Given the description of an element on the screen output the (x, y) to click on. 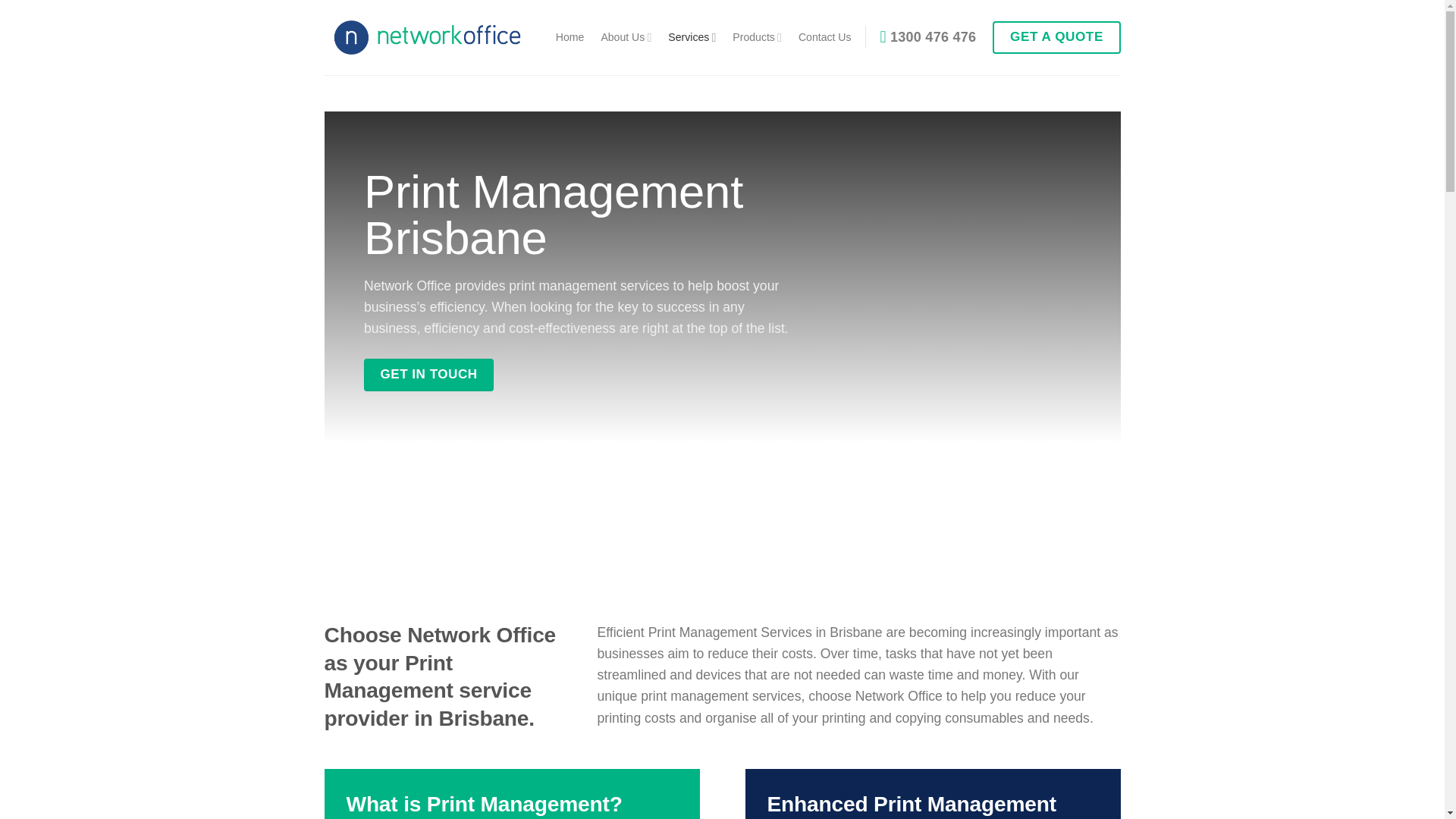
GET A QUOTE (1055, 37)
1300 476 476 (928, 36)
1300 476 476 (928, 36)
About Us (624, 37)
Home (570, 36)
Products (756, 37)
Contact Us (824, 36)
GET IN TOUCH (428, 374)
Services (692, 37)
